Given the description of an element on the screen output the (x, y) to click on. 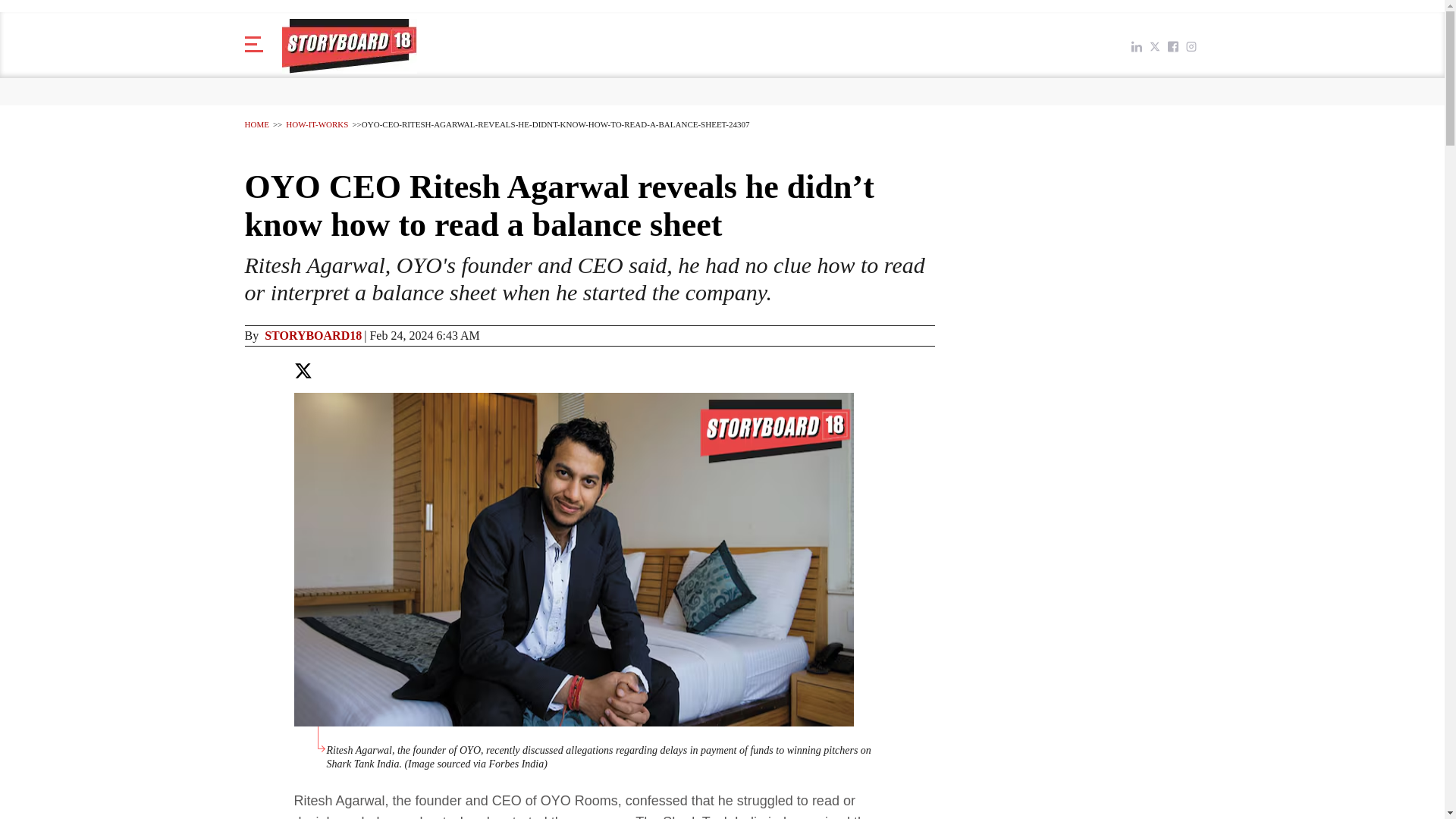
Click to go to Home page  (349, 45)
Click to go to Twitter (1153, 45)
Click to go to facebook (1171, 45)
HOME (255, 123)
Click to go to Linked in (1135, 45)
HOW-IT-WORKS (316, 123)
